Given the description of an element on the screen output the (x, y) to click on. 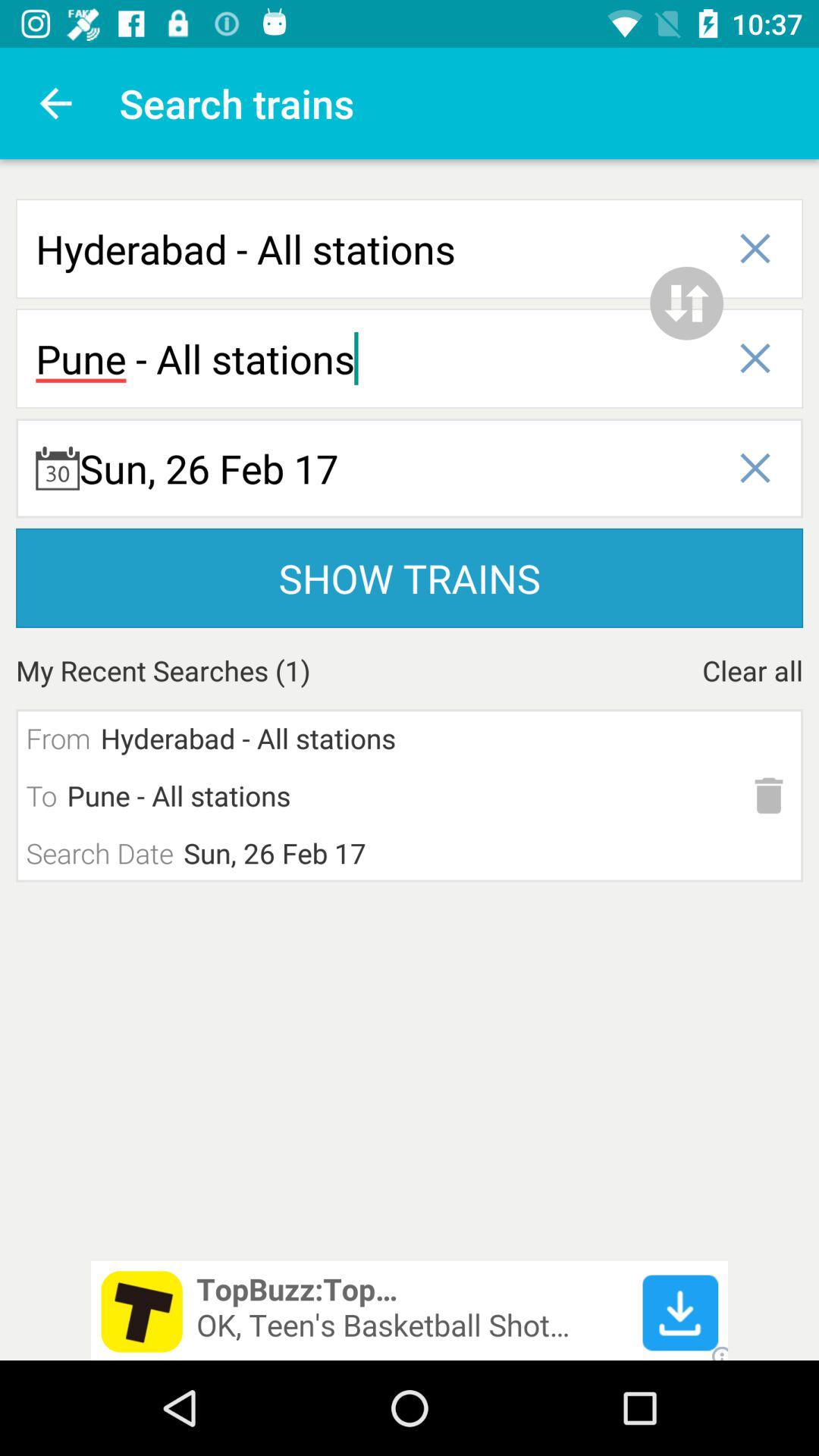
advertisement bar (409, 1310)
